Given the description of an element on the screen output the (x, y) to click on. 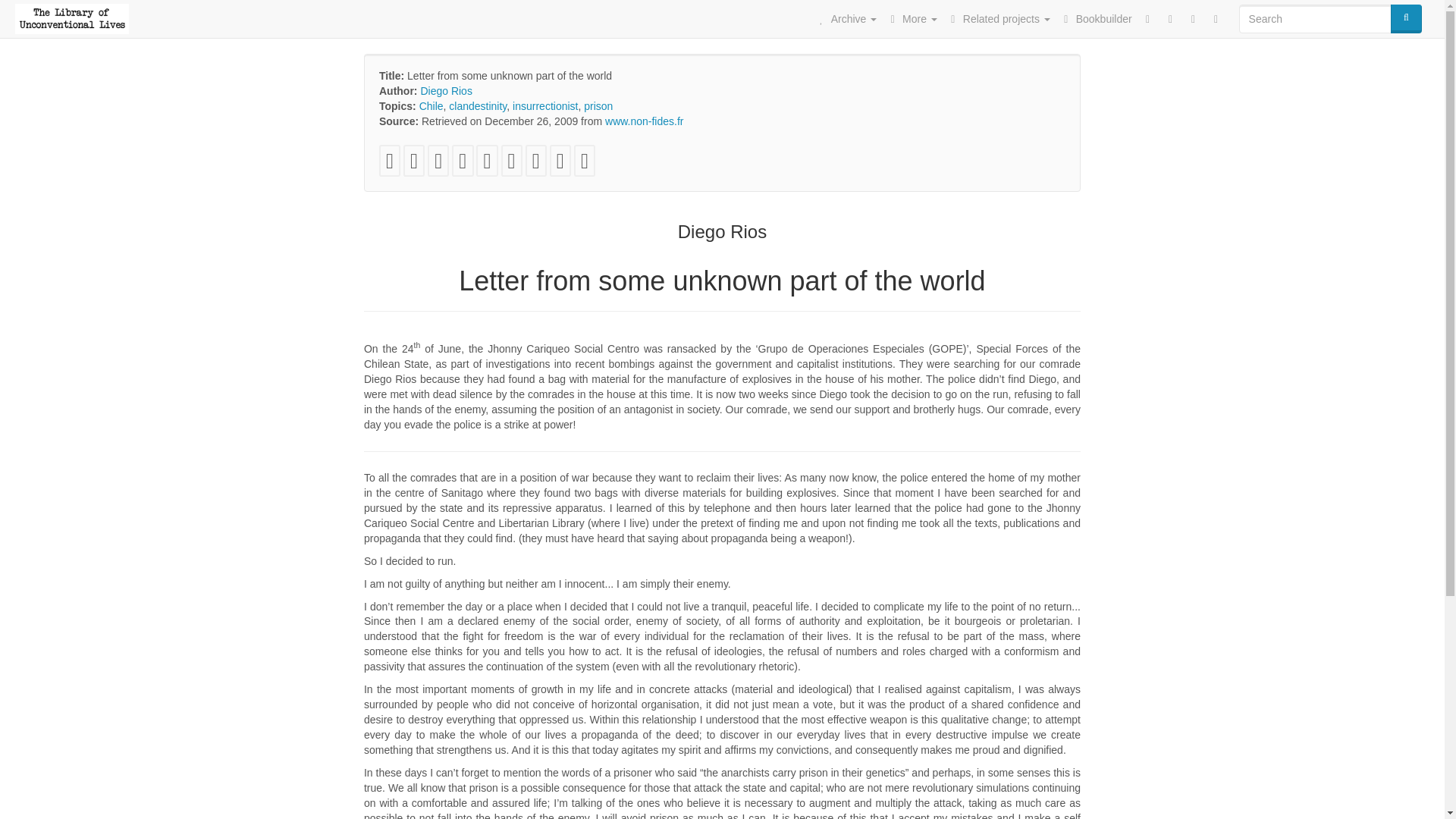
Bookbuilder (1095, 18)
about, links... (911, 18)
texts by authors, title, topic... (846, 18)
SEARCH (1406, 18)
Related projects (998, 18)
Diego Rios (445, 91)
Bookbuilder (1095, 18)
Related projects (998, 18)
More (911, 18)
Archive (846, 18)
